Given the description of an element on the screen output the (x, y) to click on. 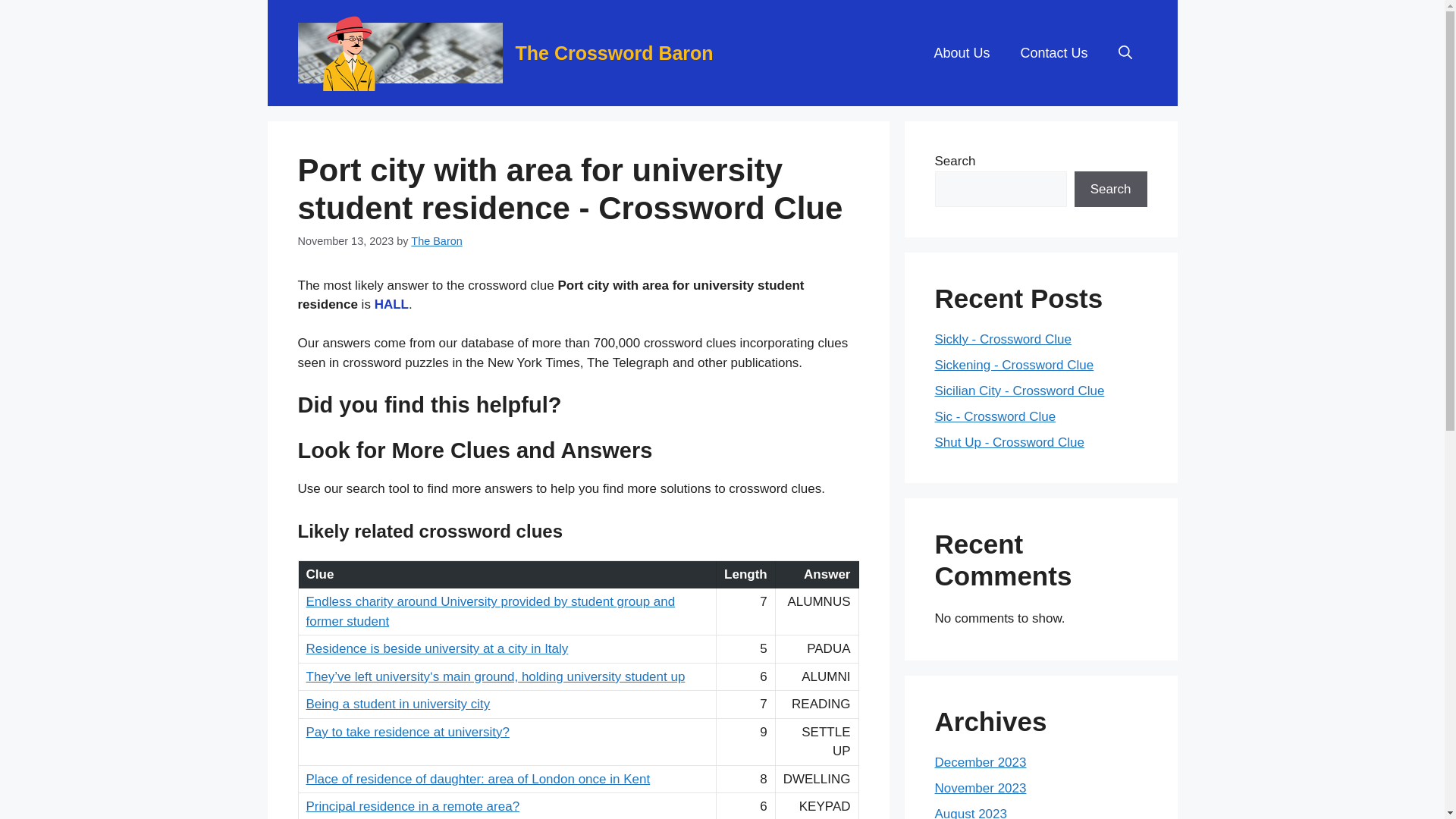
Shut Up - Crossword Clue (1008, 441)
November 2023 (980, 788)
Sickly - Crossword Clue (1002, 339)
The Baron (435, 241)
August 2023 (970, 812)
Principal residence in a remote area? (412, 806)
Contact Us (1053, 53)
Residence is beside university at a city in Italy (437, 648)
December 2023 (980, 762)
About Us (961, 53)
Pay to take residence at university? (407, 731)
Being a student in university city (397, 703)
Place of residence of daughter: area of London once in Kent (477, 779)
View all posts by The Baron (435, 241)
